Given the description of an element on the screen output the (x, y) to click on. 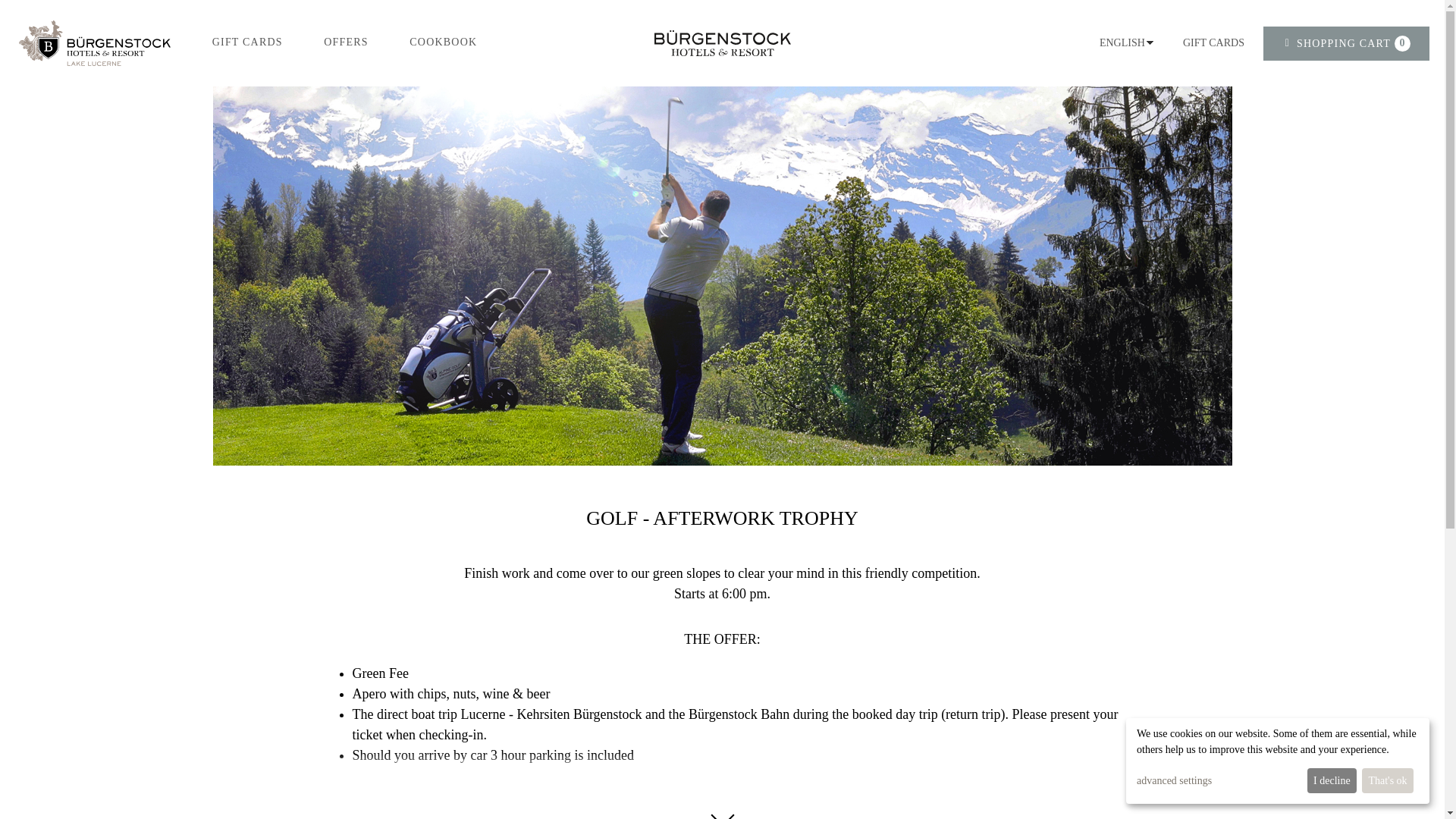
OFFERS (345, 41)
COOKBOOK (443, 41)
GIFT CARDS (247, 41)
ENGLISH (1121, 43)
Check code (1130, 219)
GIFT CARDS (1346, 43)
edit cookies  (1213, 42)
